Given the description of an element on the screen output the (x, y) to click on. 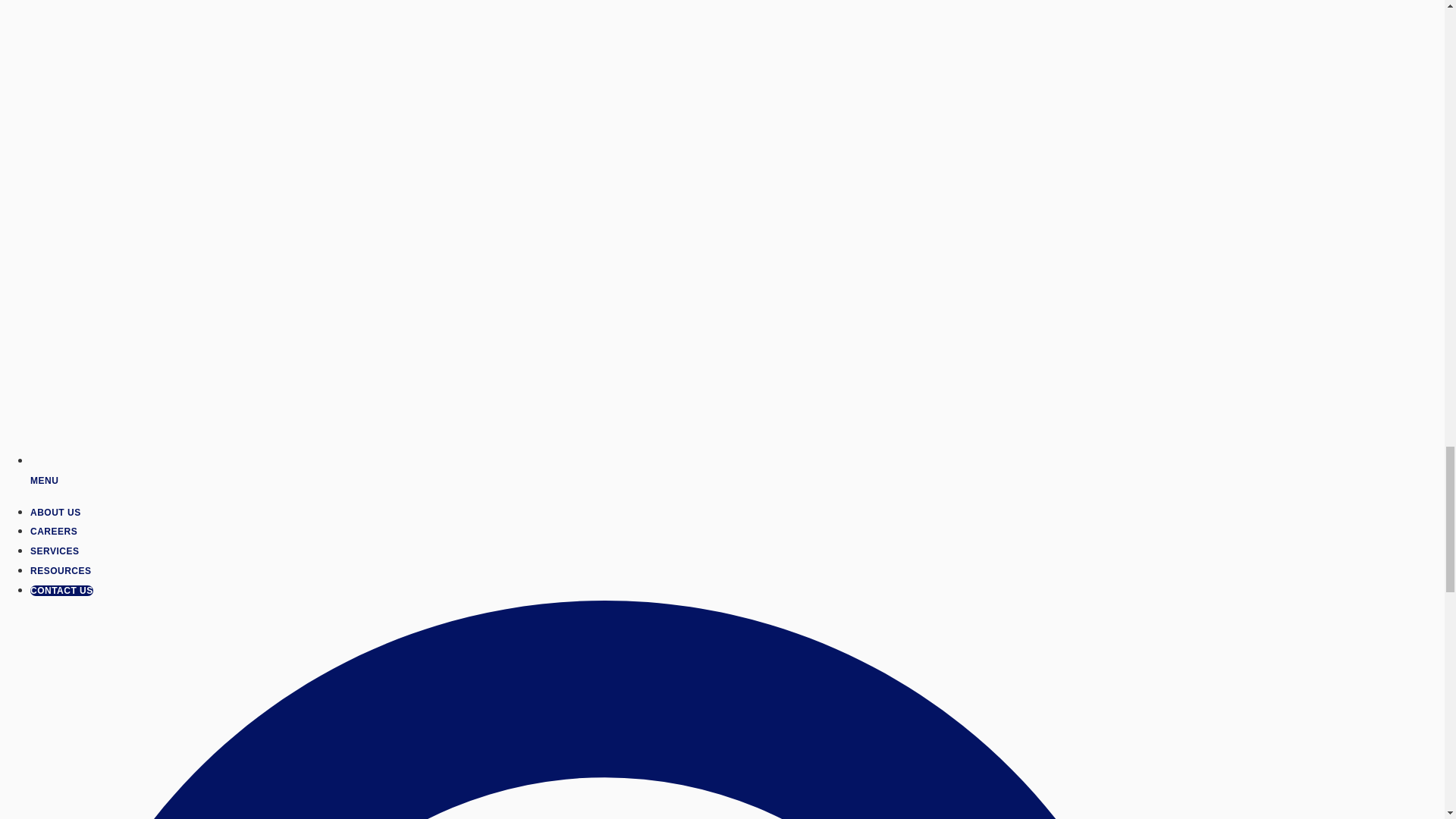
SERVICES (54, 551)
RESOURCES (60, 570)
ABOUT US (55, 511)
CONTACT US (61, 590)
CAREERS (53, 531)
